Given the description of an element on the screen output the (x, y) to click on. 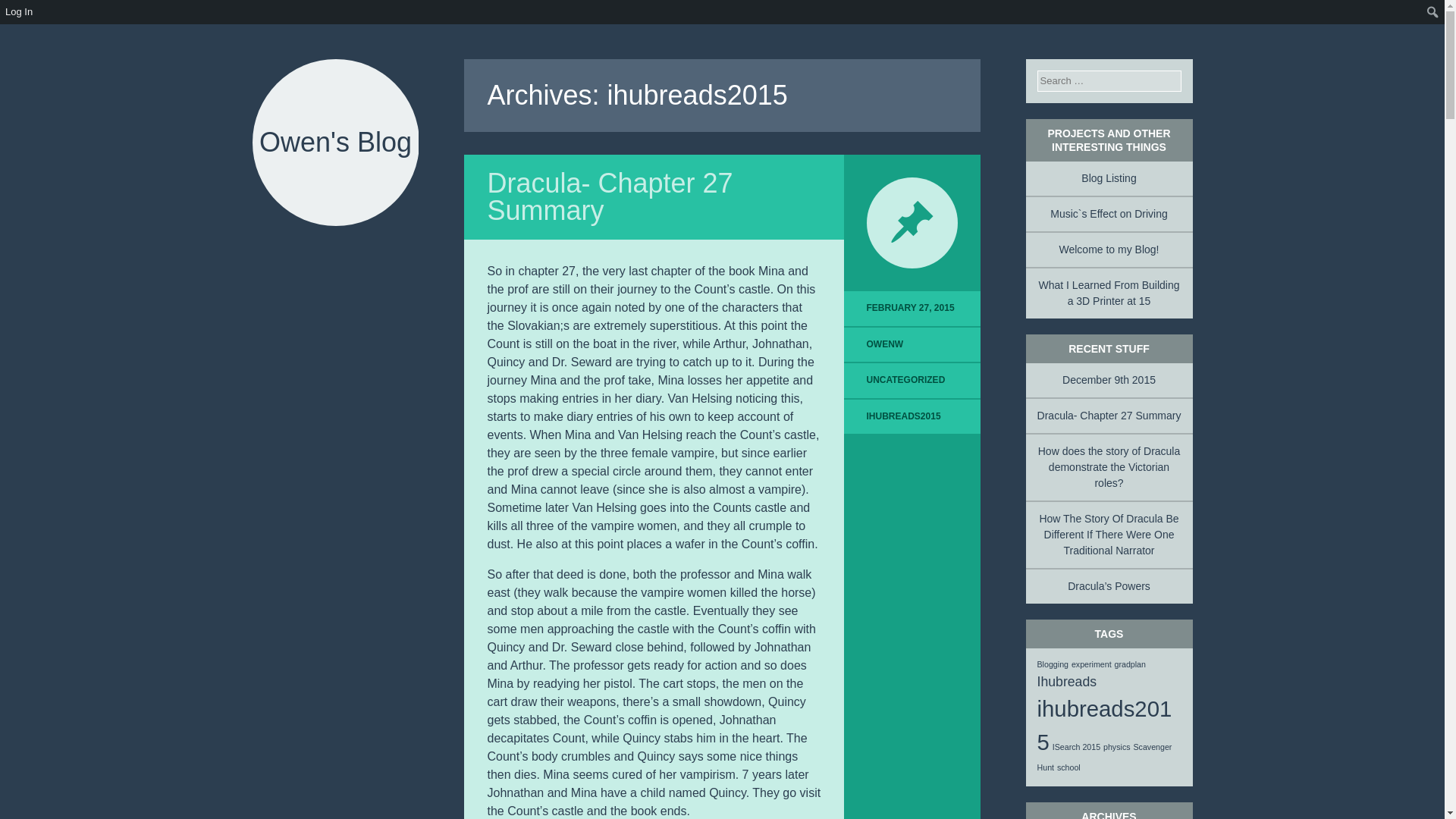
FEBRUARY 27, 2015 (911, 308)
Dracula- Chapter 27 Summary (609, 196)
View all posts by owenw (885, 344)
UNCATEGORIZED (905, 379)
IHUBREADS2015 (903, 416)
OWENW (885, 344)
Owen's Blog (335, 142)
Owen's Blog (335, 142)
